Given the description of an element on the screen output the (x, y) to click on. 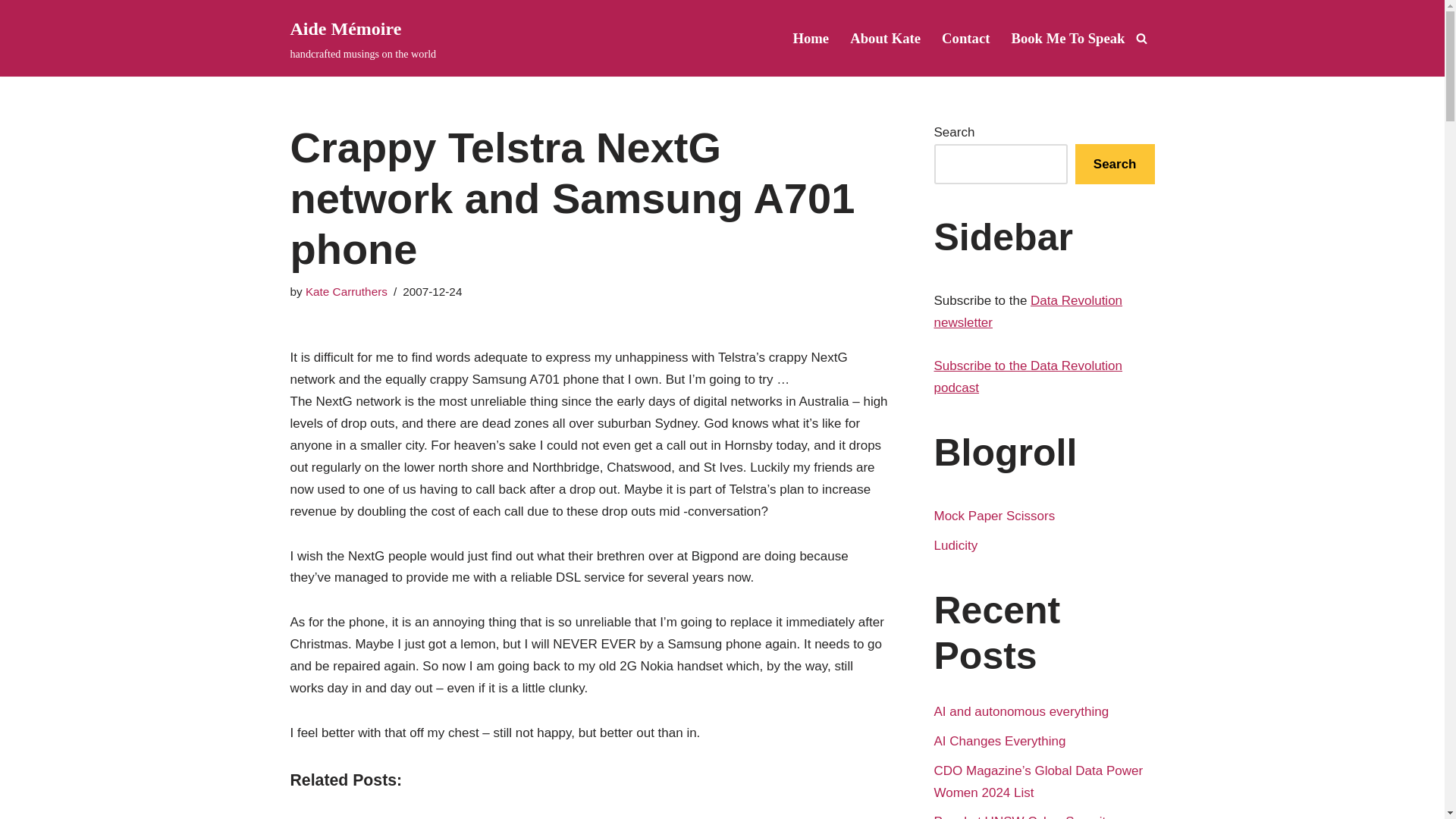
Skip to content (11, 31)
Contact (966, 37)
Subscribe to the Data Revolution podcast (1028, 376)
AI Changes Everything (999, 740)
Mock Paper Scissors (994, 515)
Home (810, 37)
AI and autonomous everything (1021, 711)
Panel at UNSW Cyber Security Summit AI panel (1023, 816)
Data Revolution newsletter (1028, 311)
Ludicity (956, 545)
Kate Carruthers (346, 291)
Posts by Kate Carruthers (346, 291)
About Kate (885, 37)
Book Me To Speak (1067, 37)
Search (1114, 164)
